Given the description of an element on the screen output the (x, y) to click on. 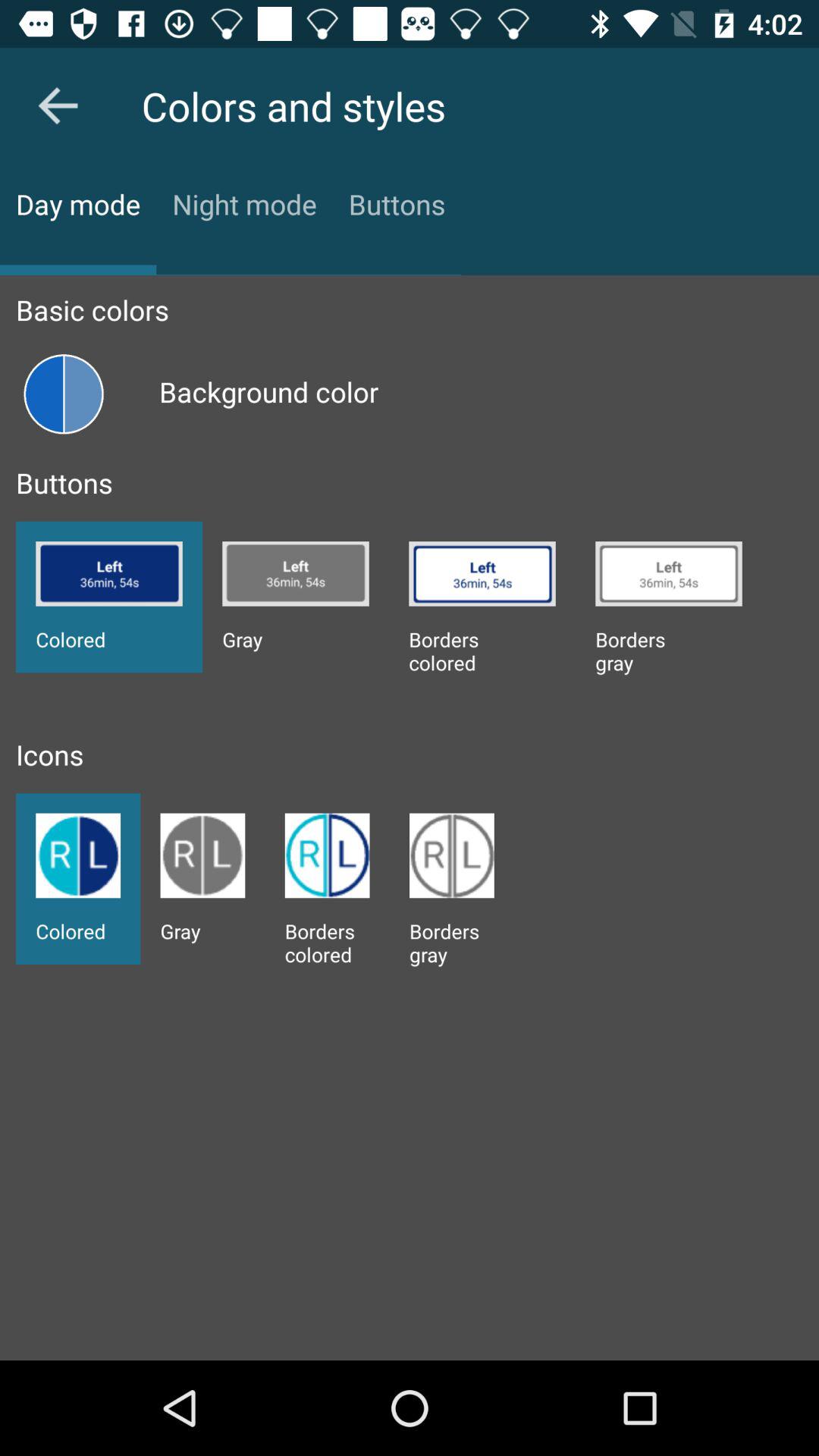
go back (57, 105)
